Given the description of an element on the screen output the (x, y) to click on. 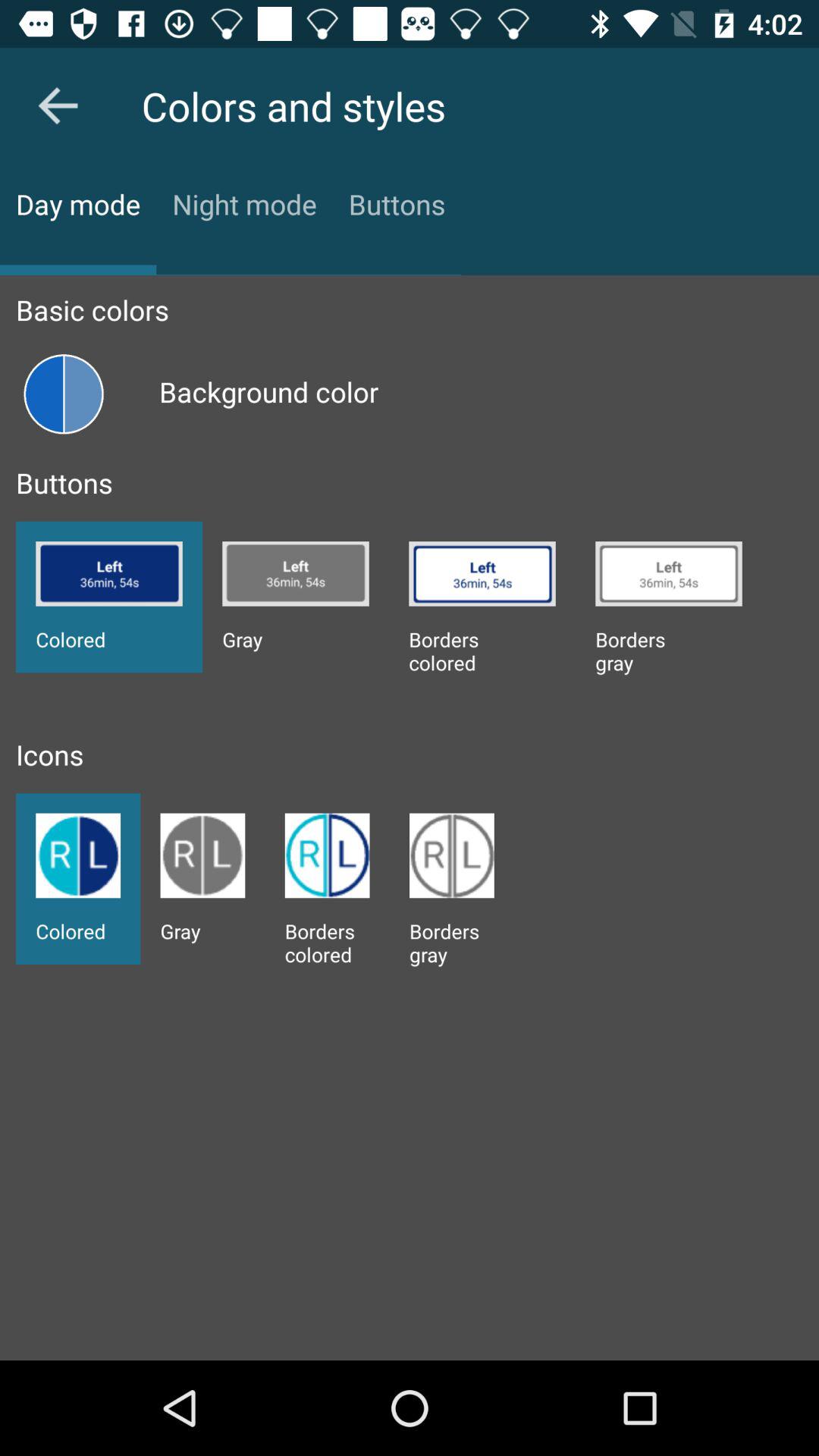
go back (57, 105)
